Given the description of an element on the screen output the (x, y) to click on. 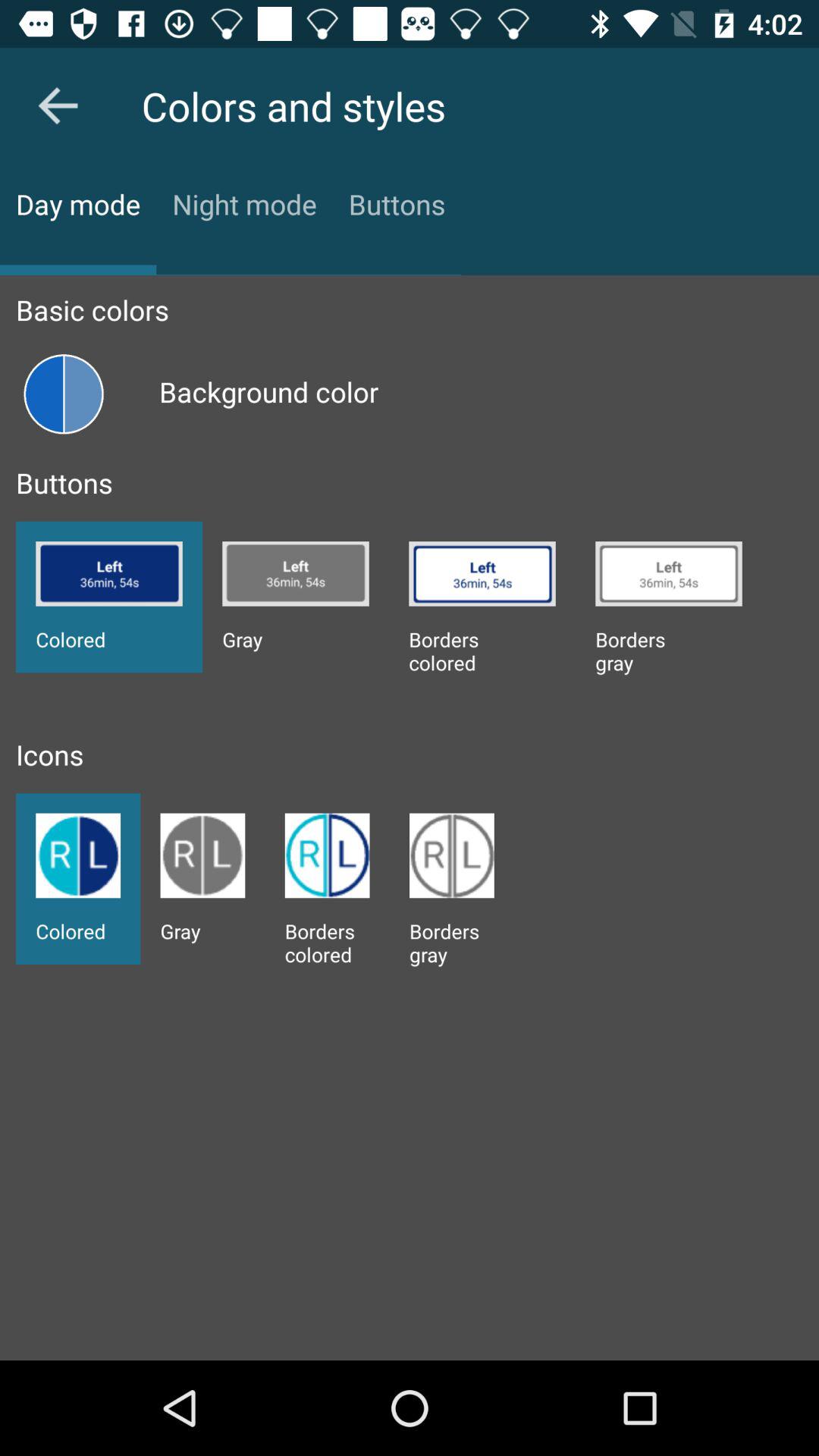
go back (57, 105)
